Given the description of an element on the screen output the (x, y) to click on. 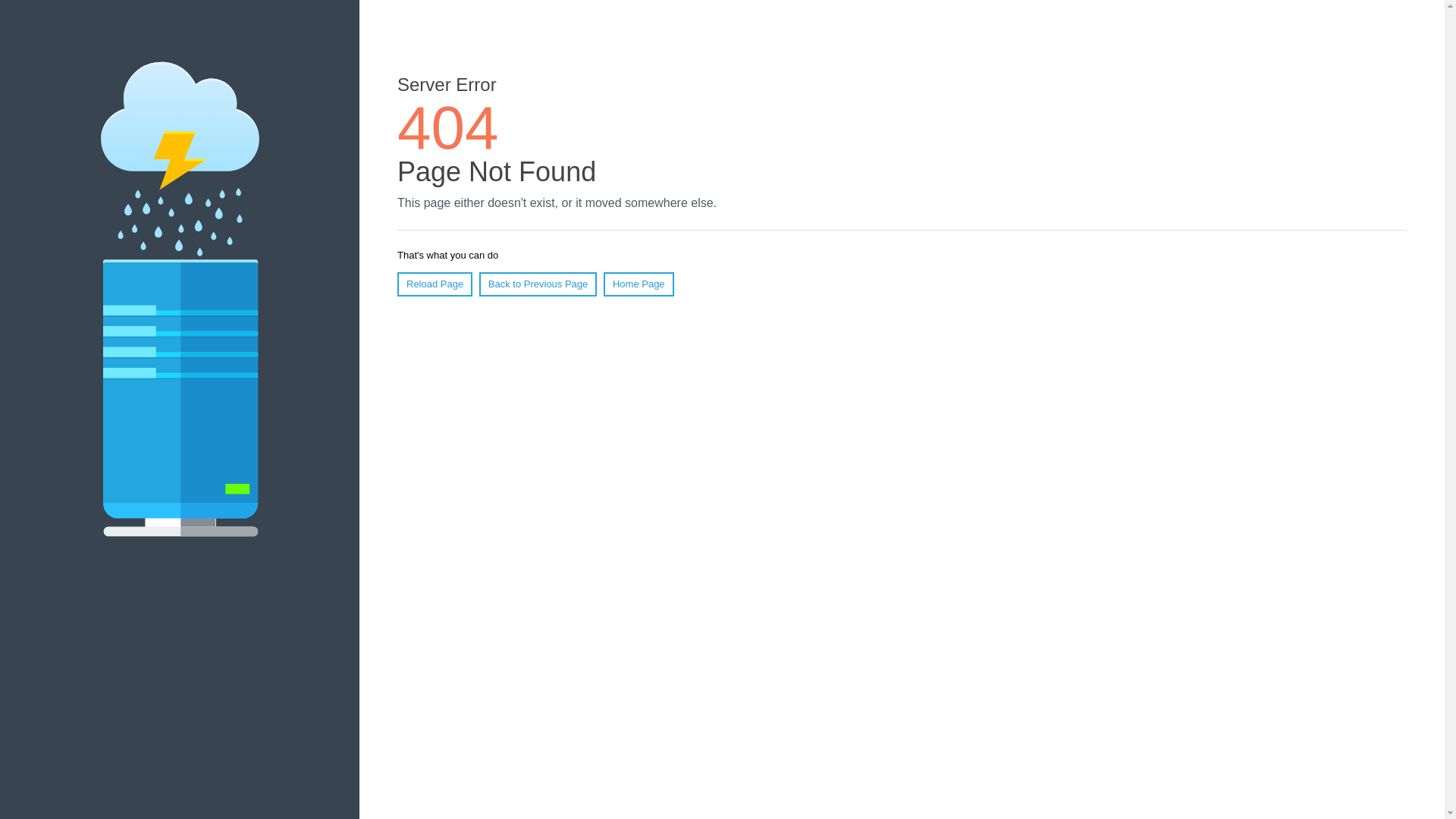
Reload Page Element type: text (434, 284)
Back to Previous Page Element type: text (538, 284)
Home Page Element type: text (638, 284)
